Given the description of an element on the screen output the (x, y) to click on. 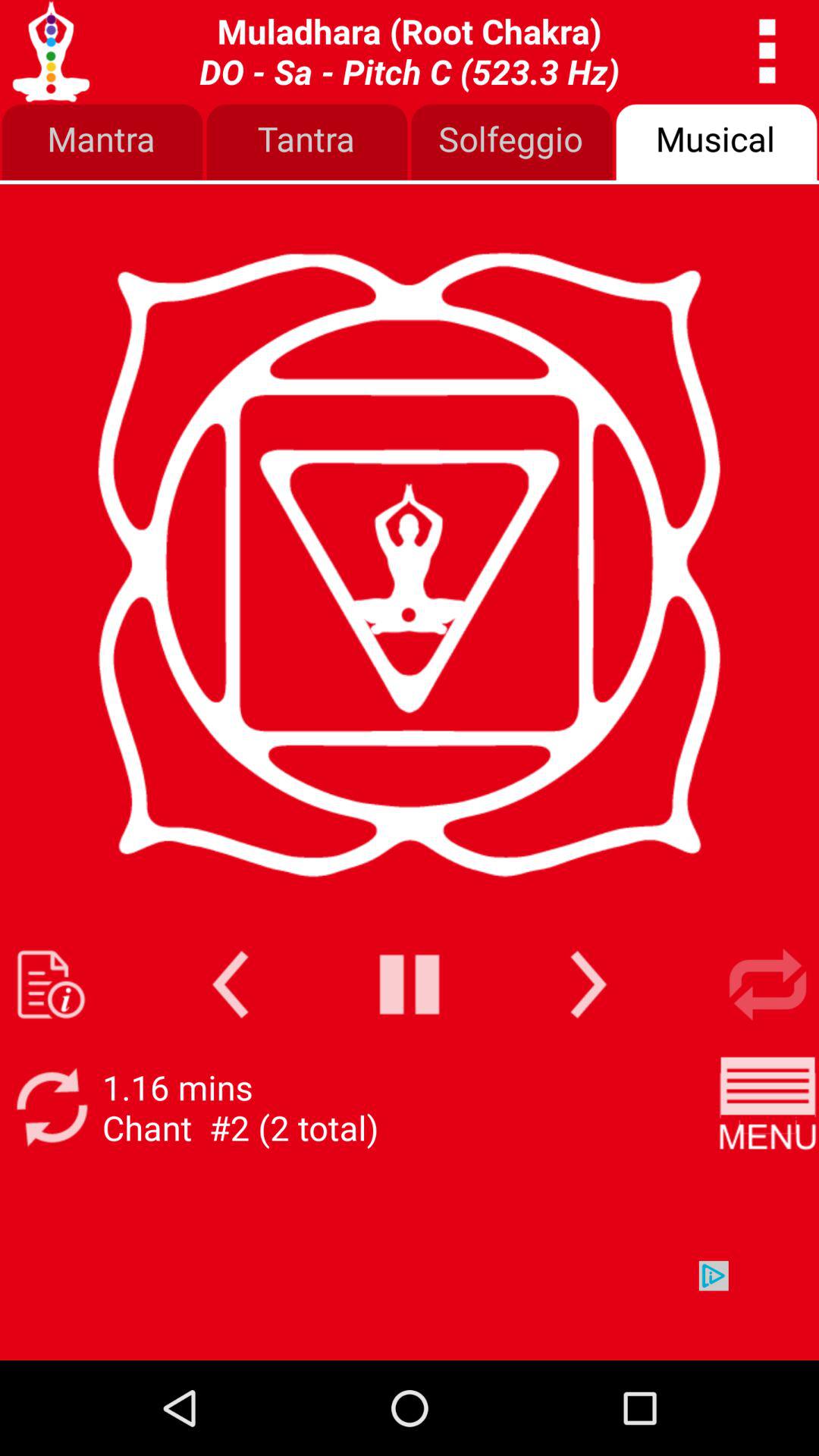
choose item above mantra icon (409, 50)
